Given the description of an element on the screen output the (x, y) to click on. 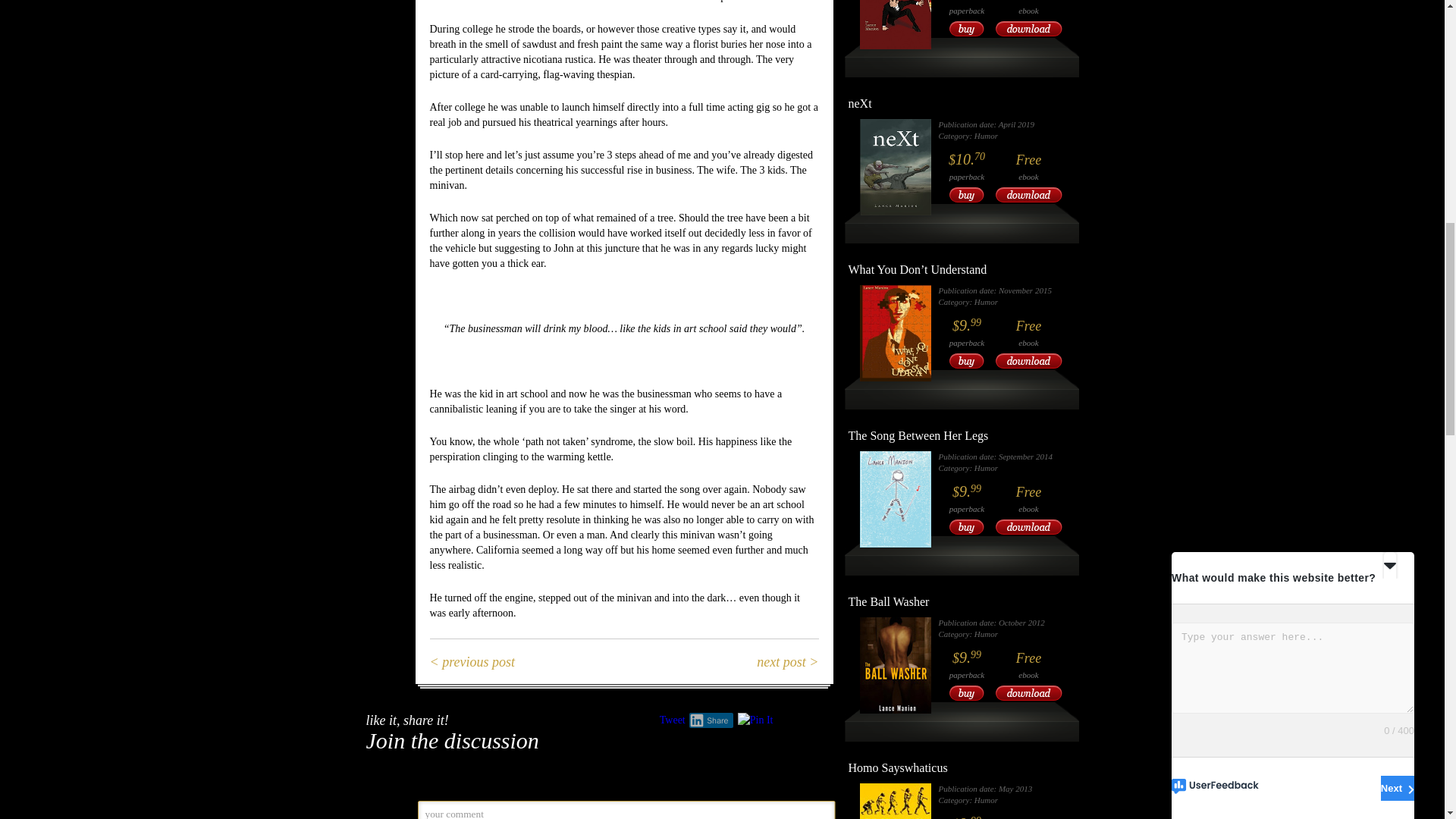
Pin It (755, 720)
